Given the description of an element on the screen output the (x, y) to click on. 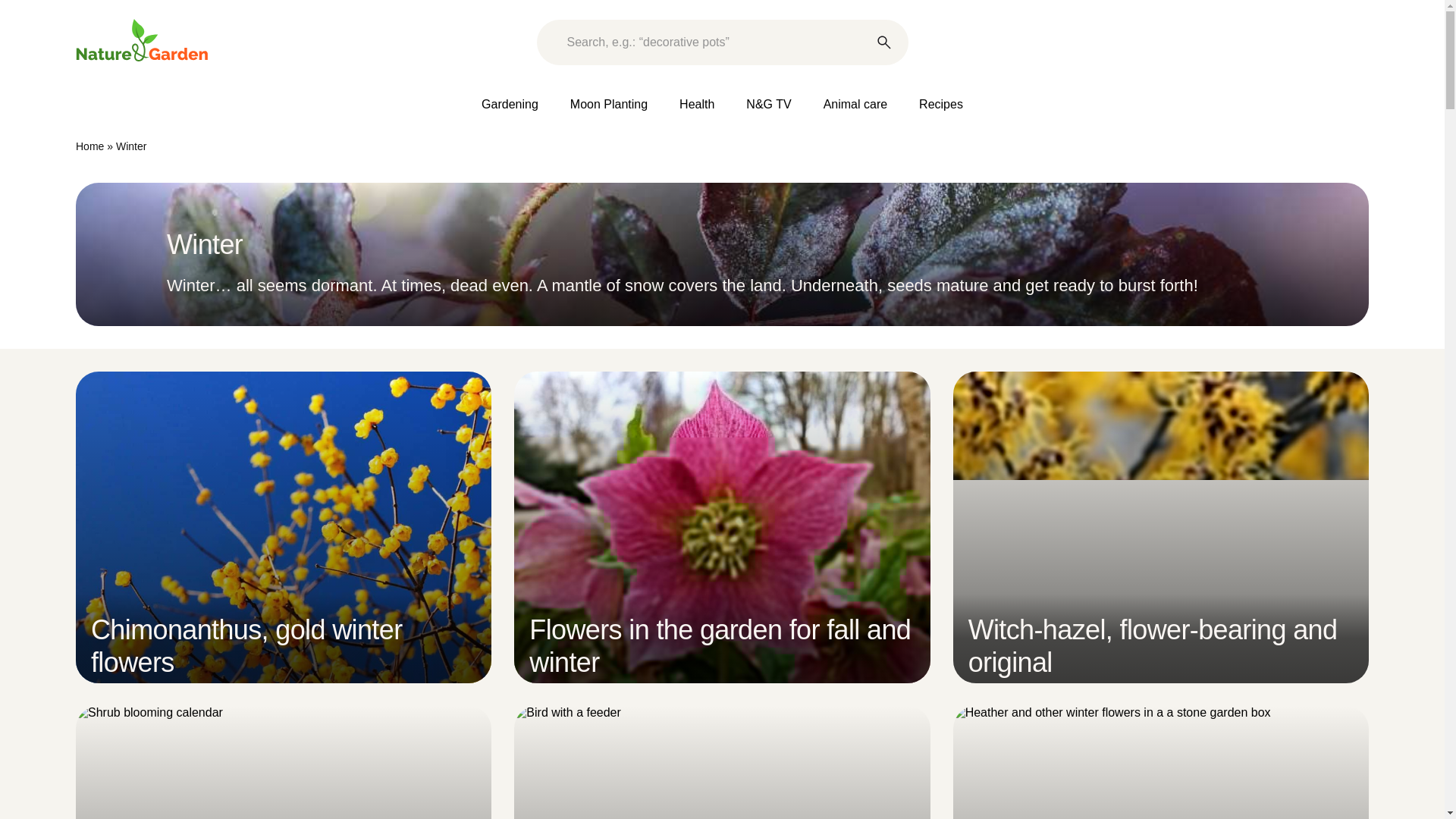
Recipes (941, 104)
Animal care (854, 104)
Gardening (509, 104)
Rechercher (884, 42)
Rechercher (884, 42)
Rechercher (884, 42)
Health (696, 104)
Moon Planting (608, 104)
